Given the description of an element on the screen output the (x, y) to click on. 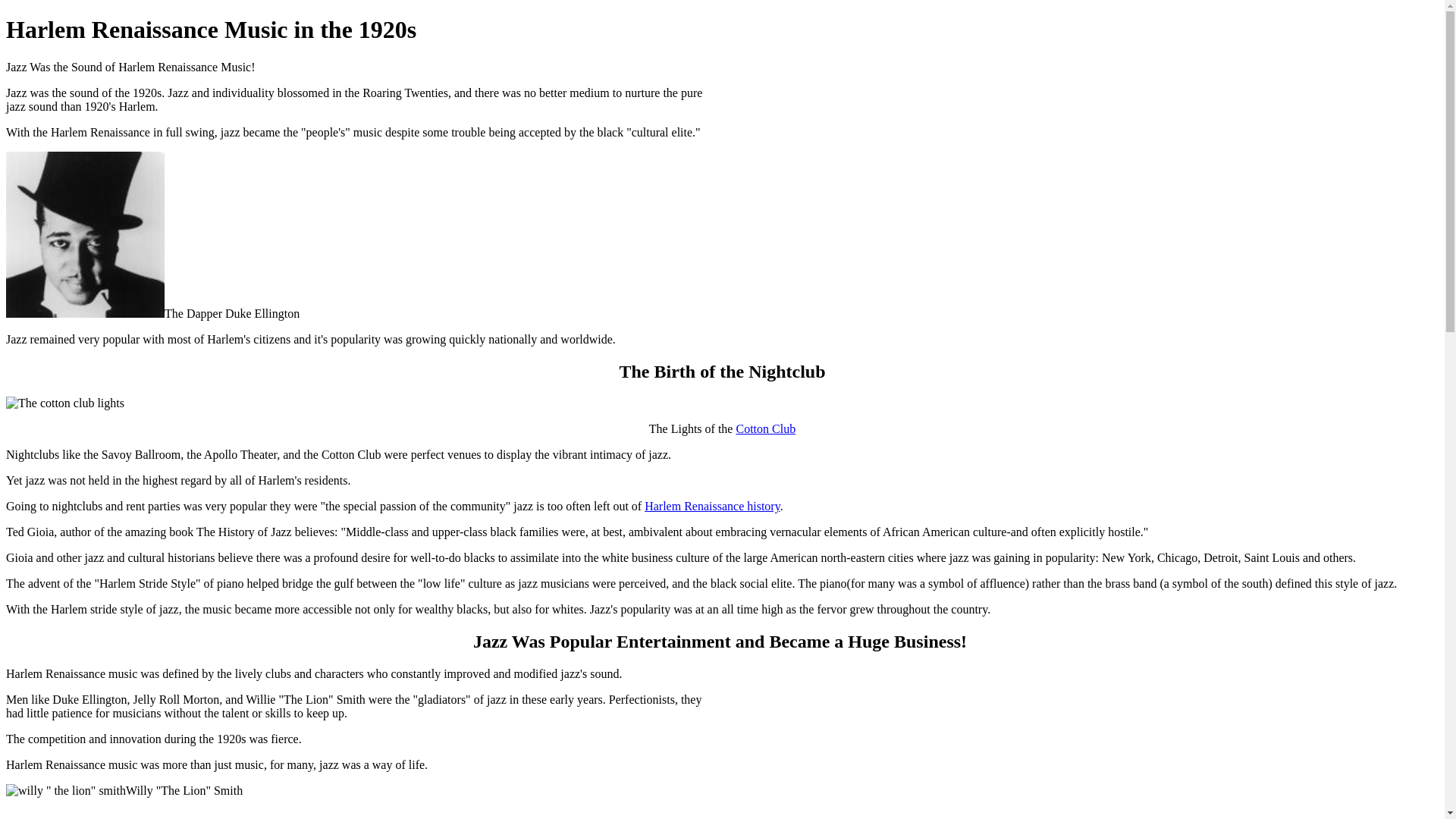
duke ellington Element type: hover (85, 234)
willy " the lion" smith Element type: hover (65, 790)
Cotton Club Element type: text (765, 428)
Harlem Renaissance history Element type: text (711, 505)
The cotton club lights Element type: hover (65, 403)
